Given the description of an element on the screen output the (x, y) to click on. 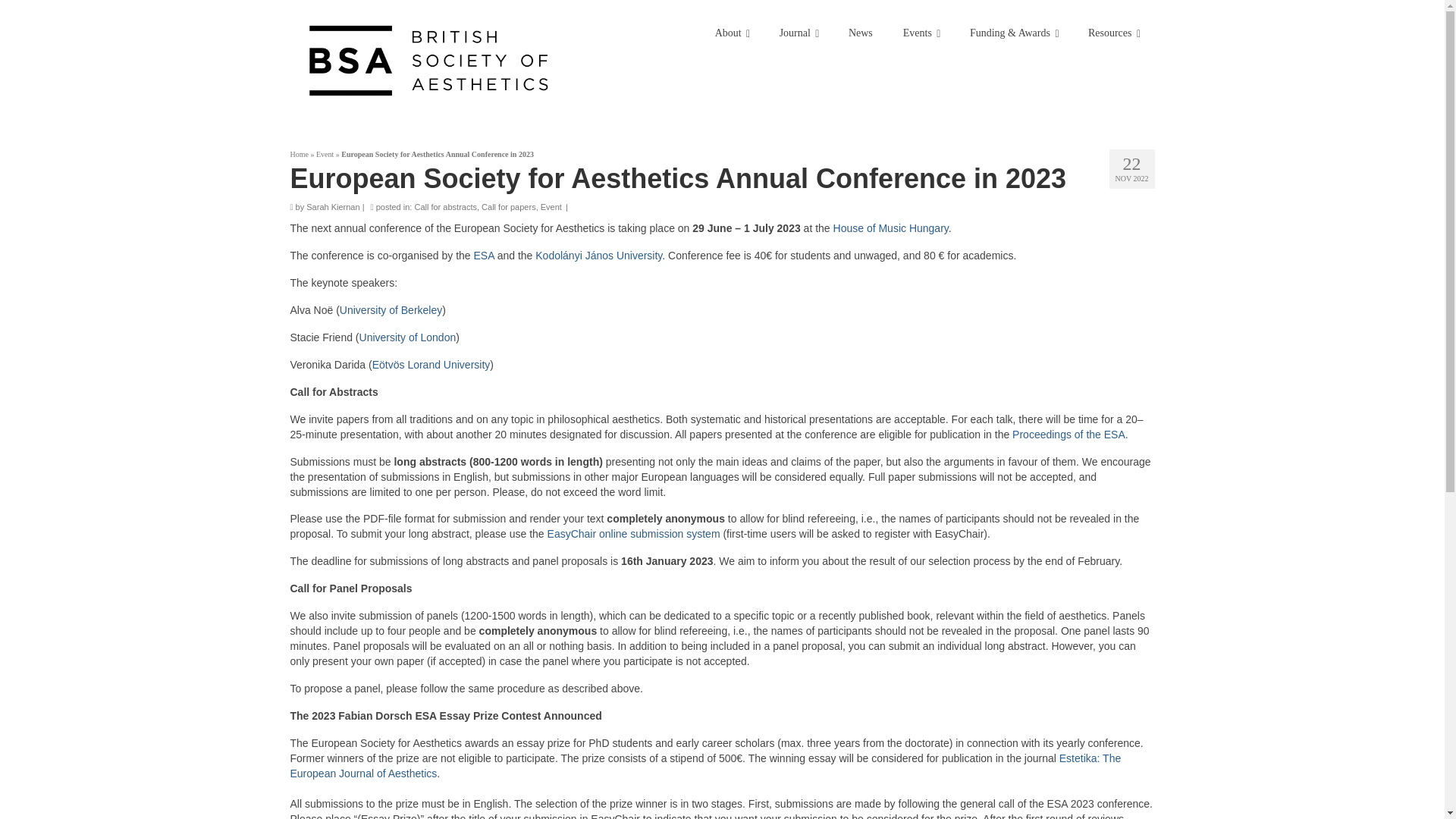
Journal (798, 32)
News (860, 32)
Events (921, 32)
Resources (1113, 32)
About (732, 32)
The British Society of Aesthetics (428, 60)
